Given the description of an element on the screen output the (x, y) to click on. 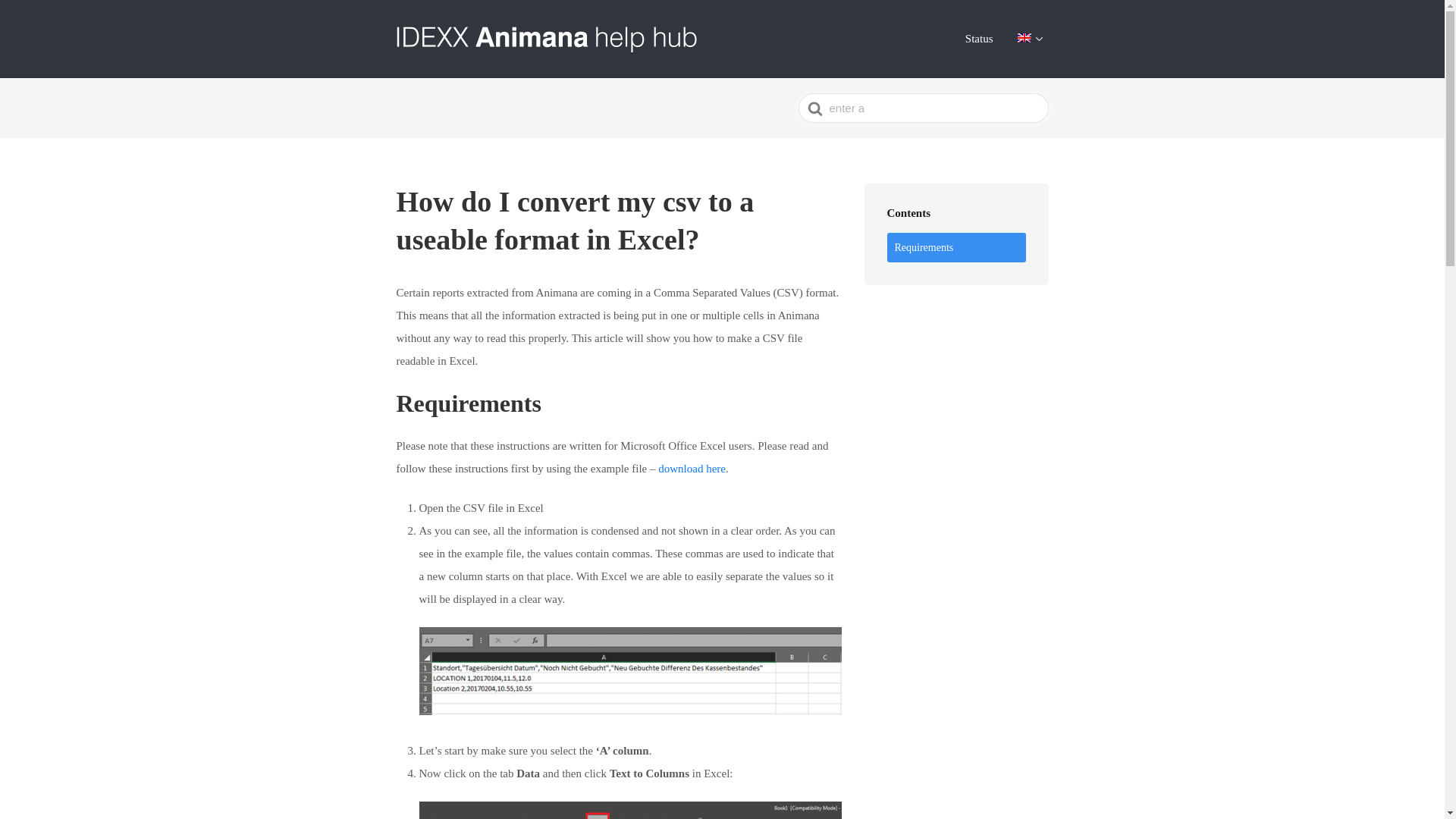
Requirements (956, 247)
Status (978, 38)
download here (691, 468)
